Given the description of an element on the screen output the (x, y) to click on. 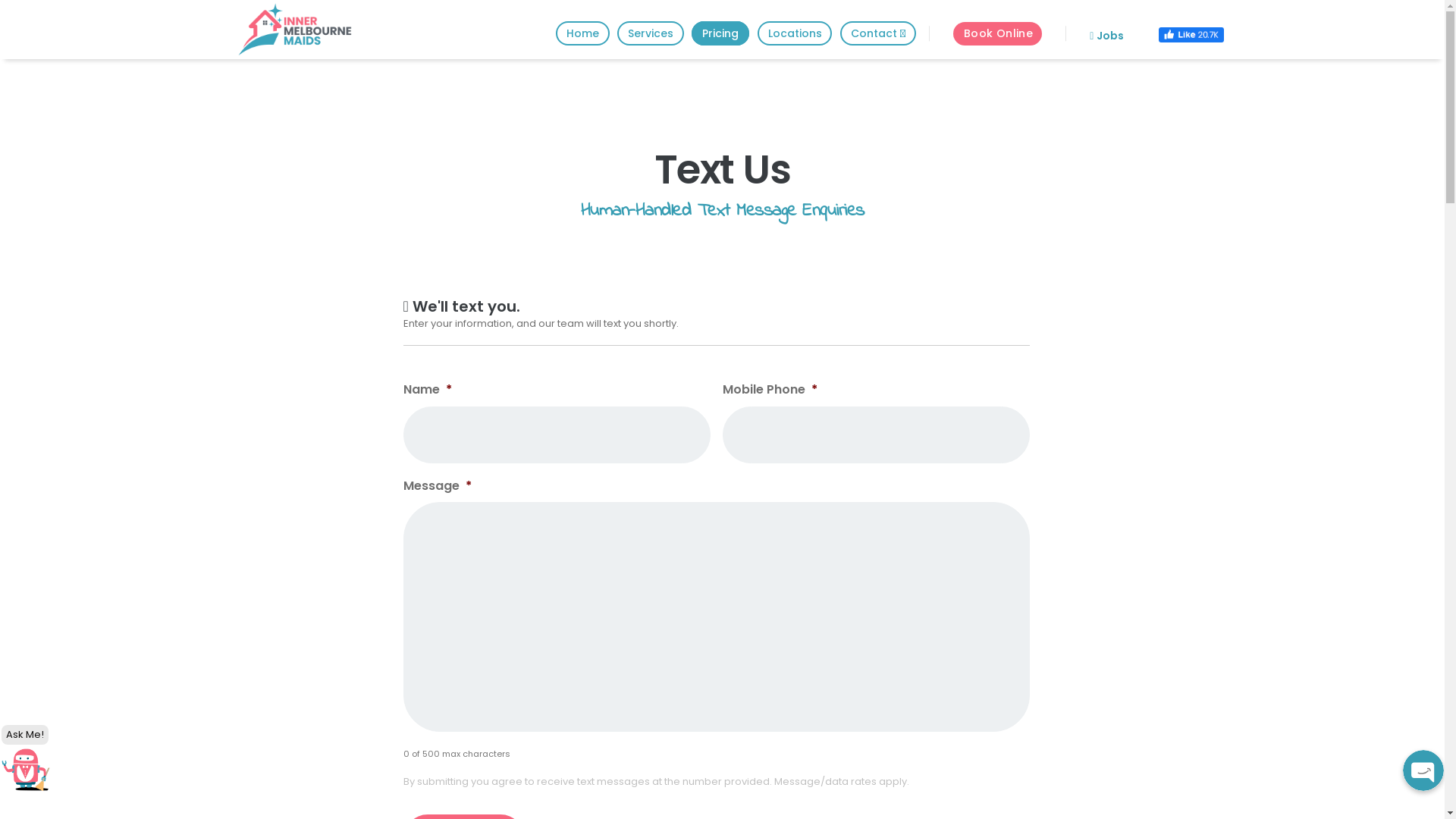
Pricing Element type: text (720, 33)
Services Element type: text (650, 33)
Locations Element type: text (794, 33)
Book Online Element type: text (997, 33)
Home Element type: text (582, 33)
